Given the description of an element on the screen output the (x, y) to click on. 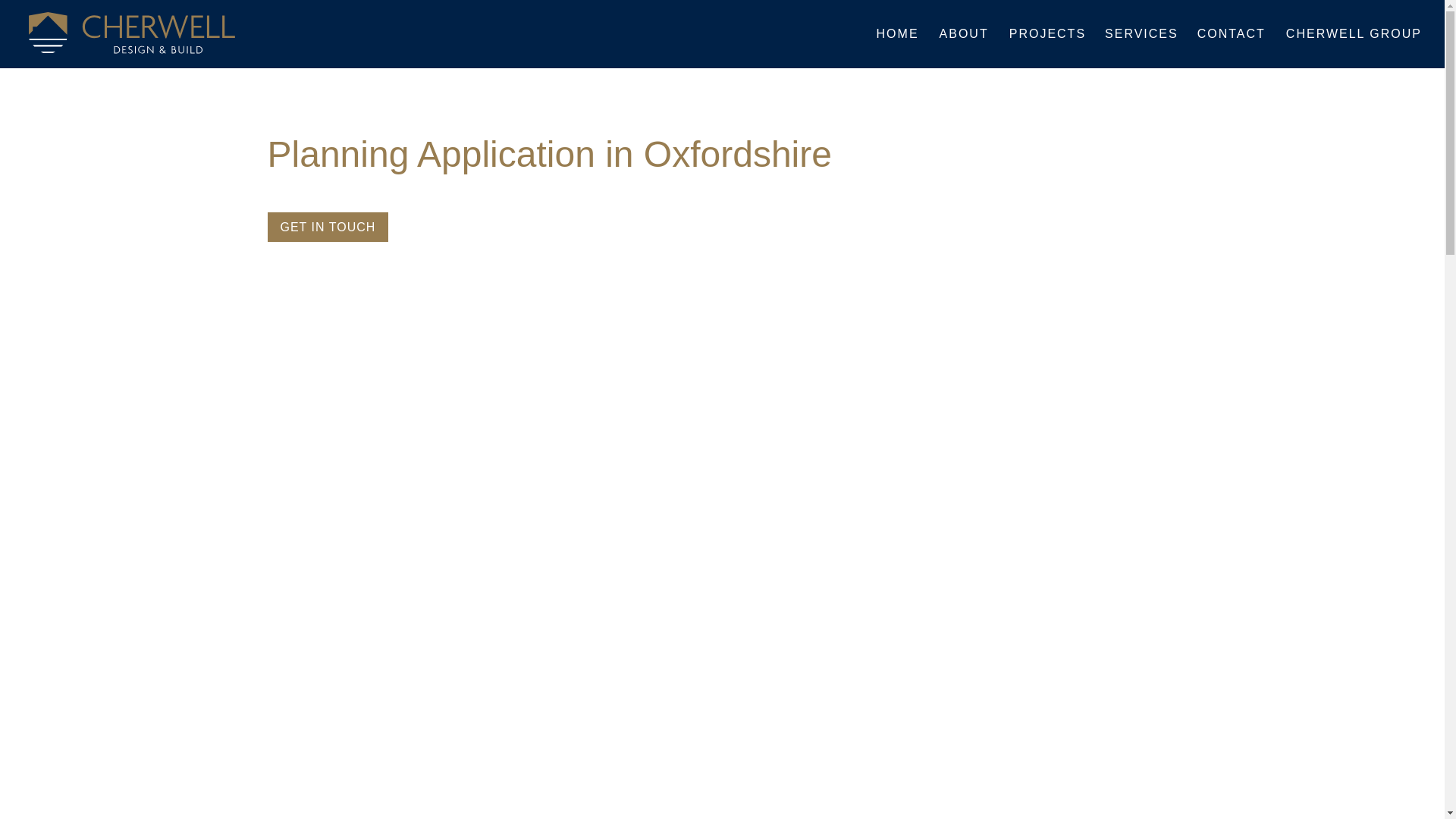
HOME (897, 47)
CHERWELL GROUP (1353, 47)
CONTACT (1230, 47)
PROJECTS (1047, 47)
ABOUT (963, 47)
SERVICES (1141, 47)
GET IN TOUCH (327, 226)
